Given the description of an element on the screen output the (x, y) to click on. 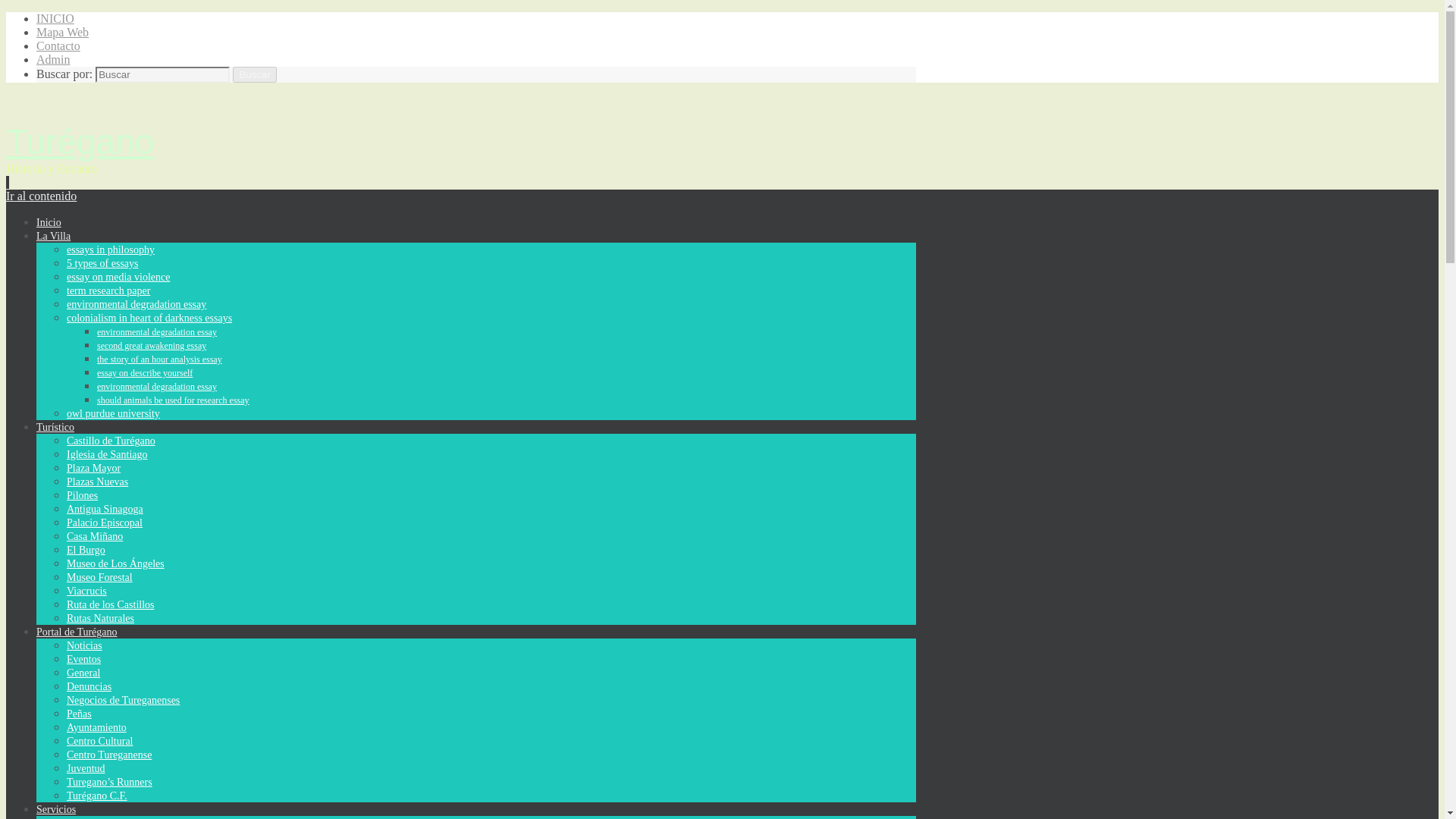
Pilones (81, 495)
Ruta de los Castillos (110, 604)
Iglesia de Santiago (107, 454)
term research paper (107, 290)
Noticias (83, 645)
environmental degradation essay (156, 331)
Inicio (48, 222)
essay on media violence (118, 276)
Rutas Naturales (99, 618)
INICIO (55, 18)
